Given the description of an element on the screen output the (x, y) to click on. 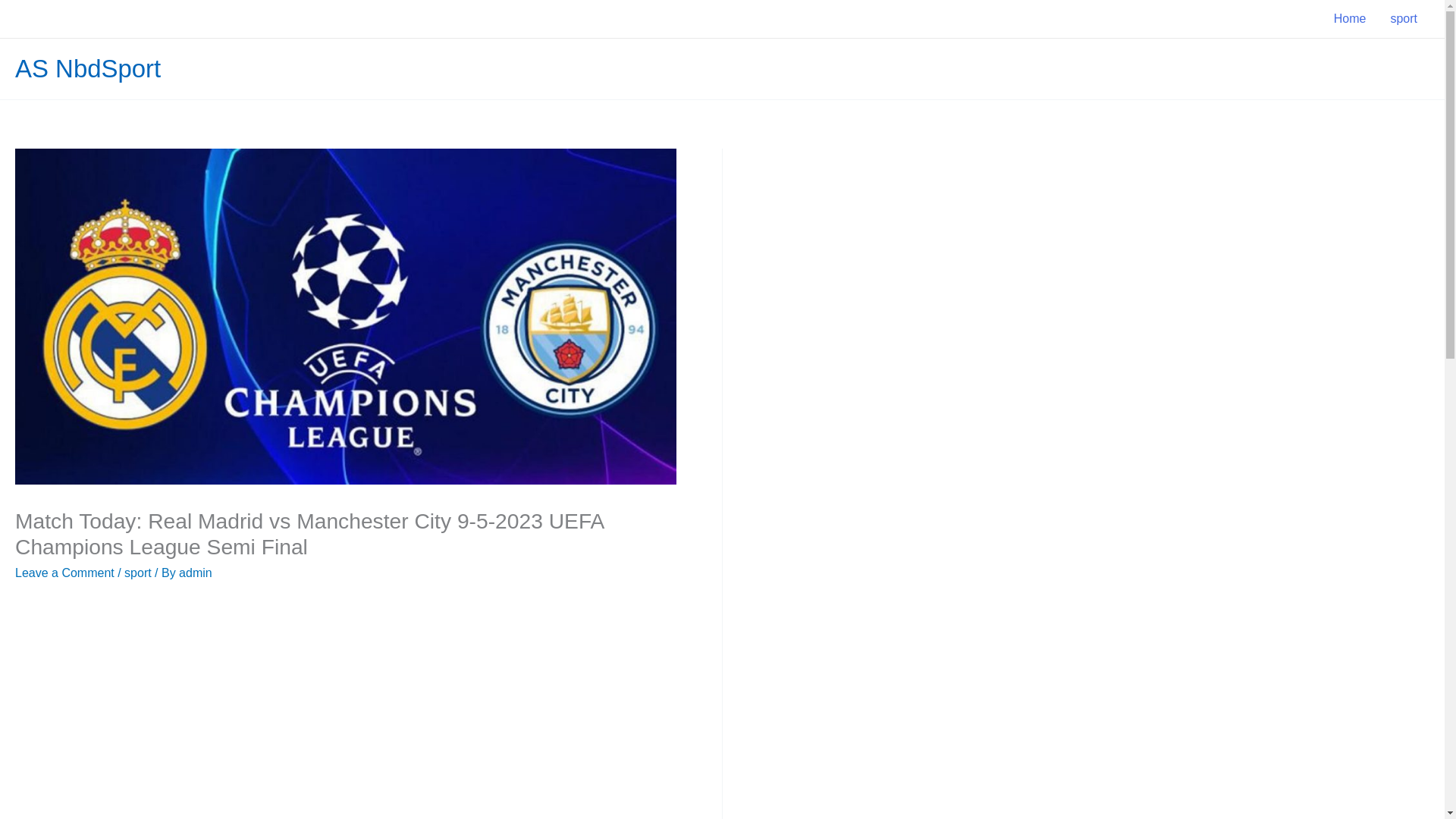
sport (1403, 18)
Leave a Comment (64, 572)
sport (137, 572)
Advertisement (345, 712)
Home (1350, 18)
admin (195, 572)
AS NbdSport (87, 68)
View all posts by admin (195, 572)
